Given the description of an element on the screen output the (x, y) to click on. 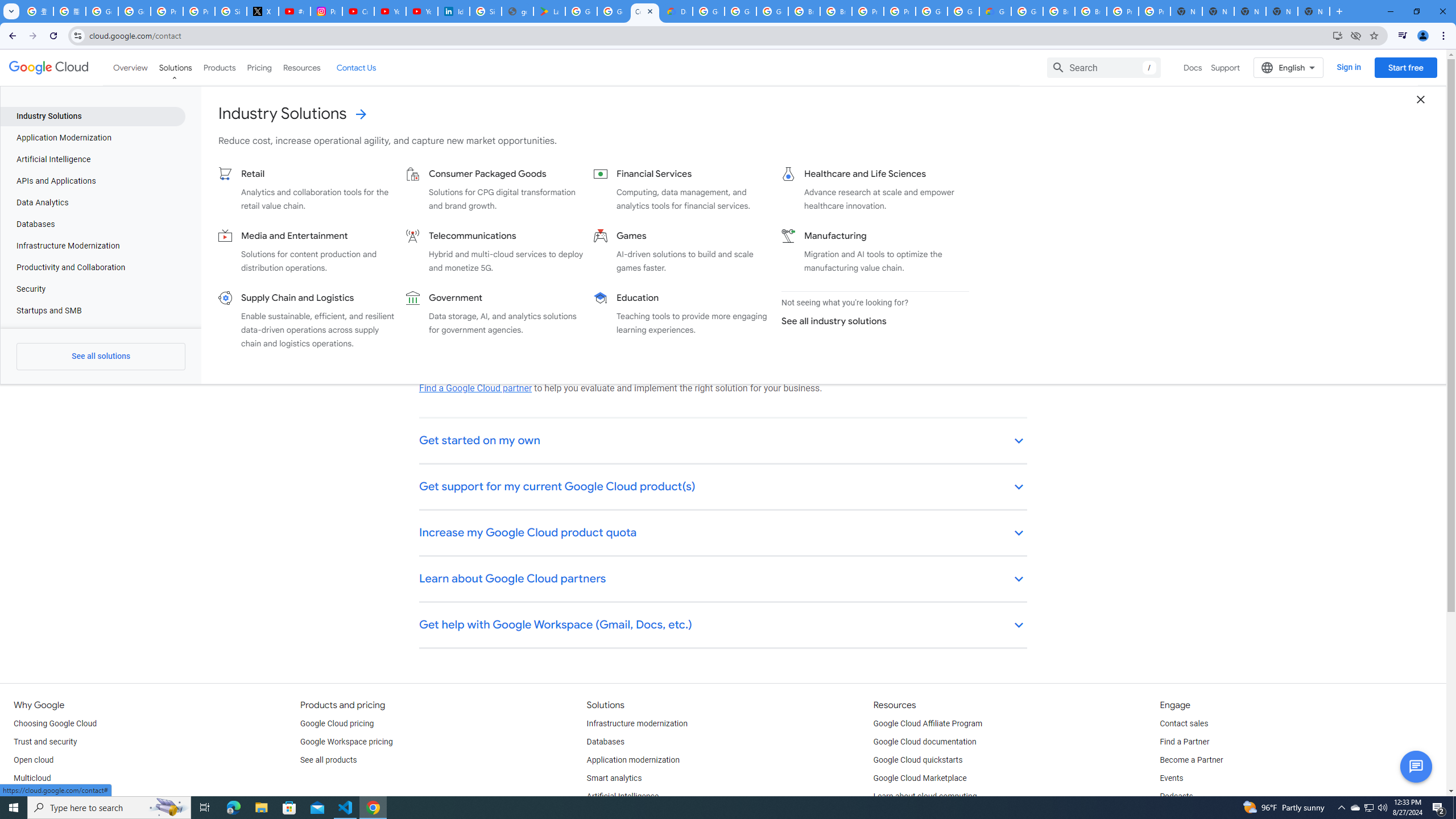
Google Workspace pricing (346, 742)
Choosing Google Cloud (55, 723)
Google Cloud Platform (963, 11)
See all products (327, 760)
Google Cloud (48, 67)
Trust and security (45, 742)
Google Cloud documentation (924, 742)
Resources (301, 67)
